Given the description of an element on the screen output the (x, y) to click on. 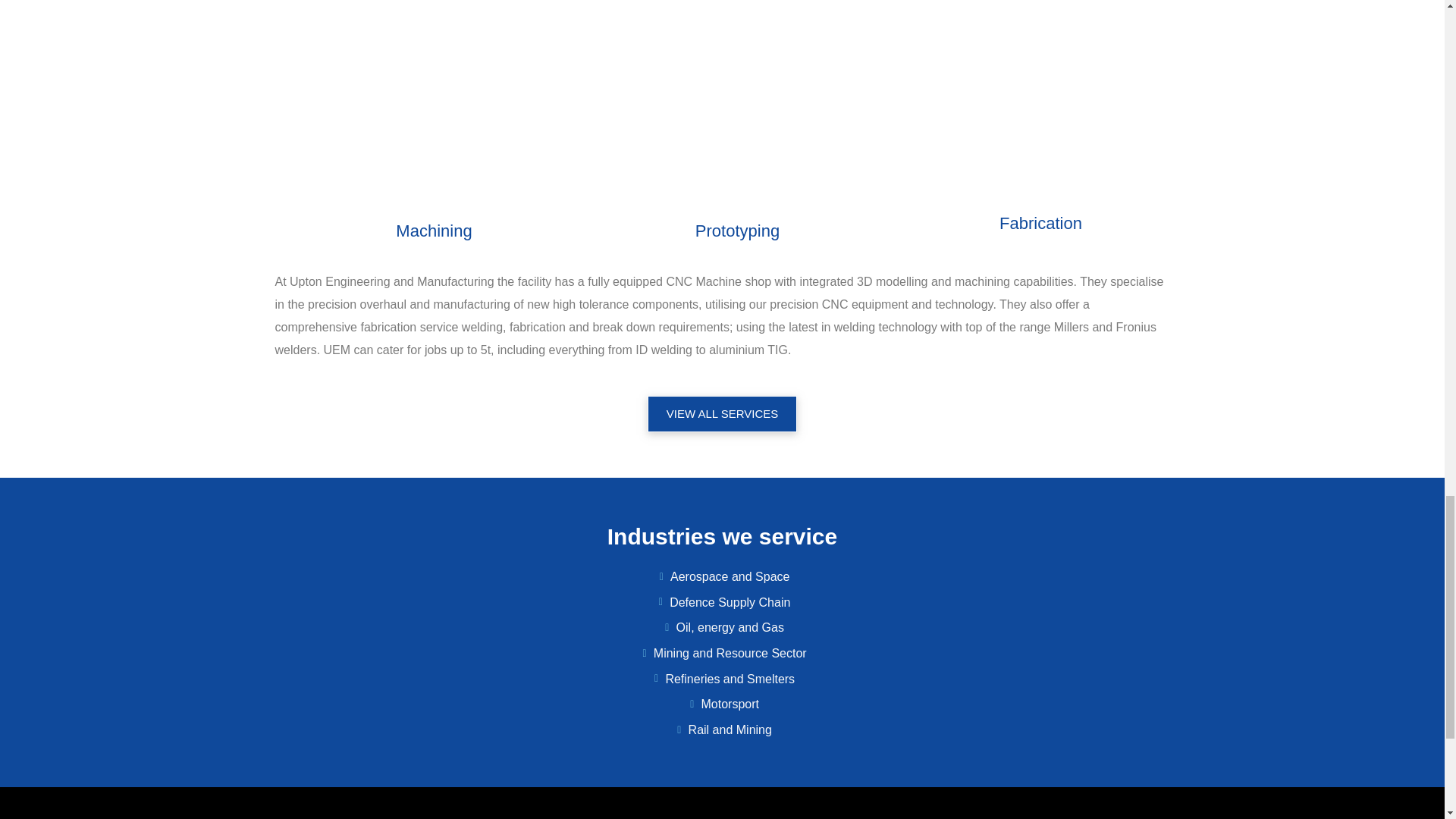
Machining (433, 230)
Prototyping (736, 230)
VIEW ALL SERVICES (722, 413)
Fabrication (1039, 222)
